Given the description of an element on the screen output the (x, y) to click on. 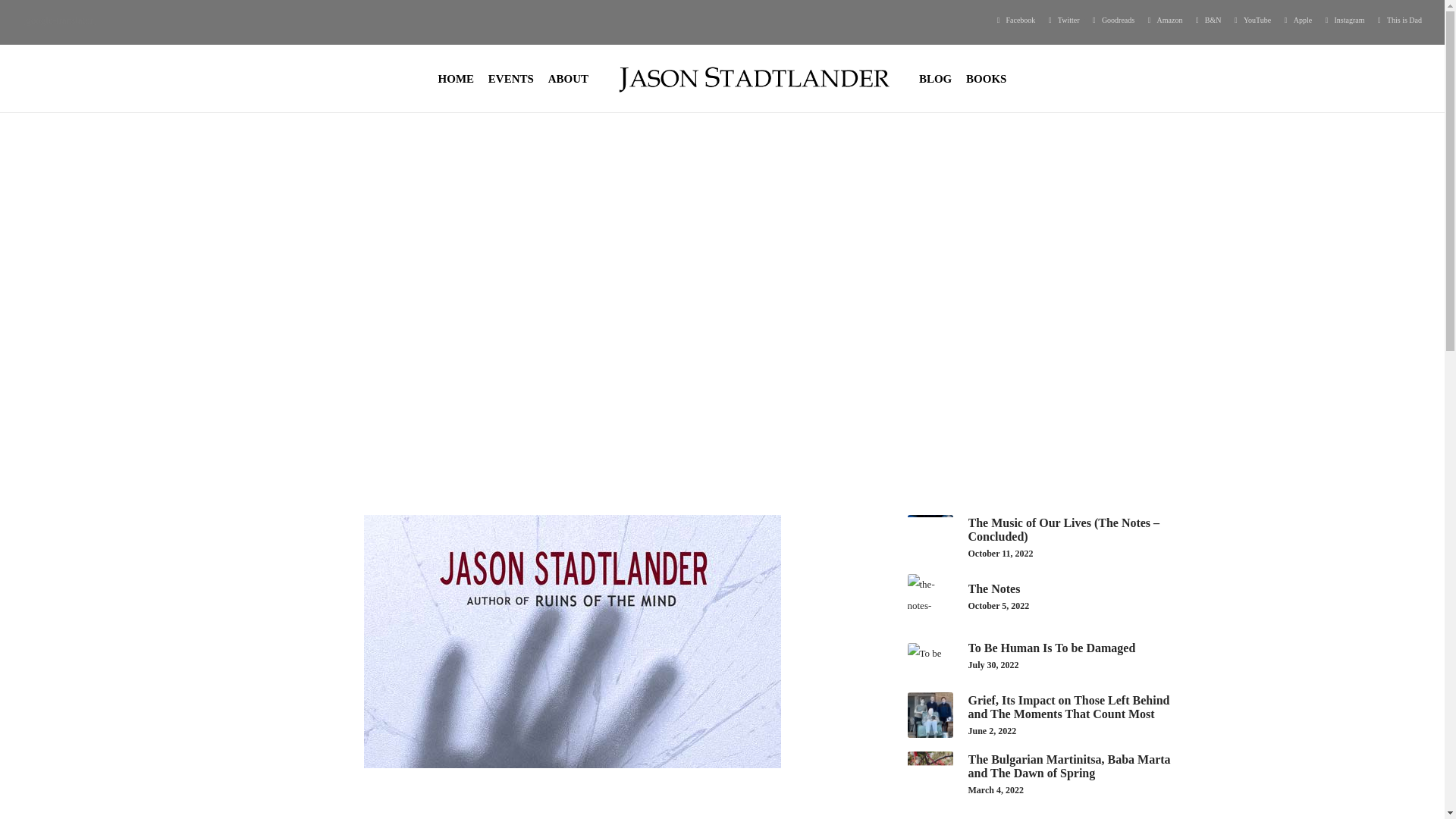
This is Dad (1398, 19)
Goodreads (1112, 19)
The Bulgarian Martinitsa, Baba Marta and The Dawn of Spring (1046, 773)
Facebook (1014, 19)
YouTube (1251, 19)
Twitter (1063, 19)
To Be Human Is To be Damaged (1046, 596)
The Notes (1046, 655)
